Given the description of an element on the screen output the (x, y) to click on. 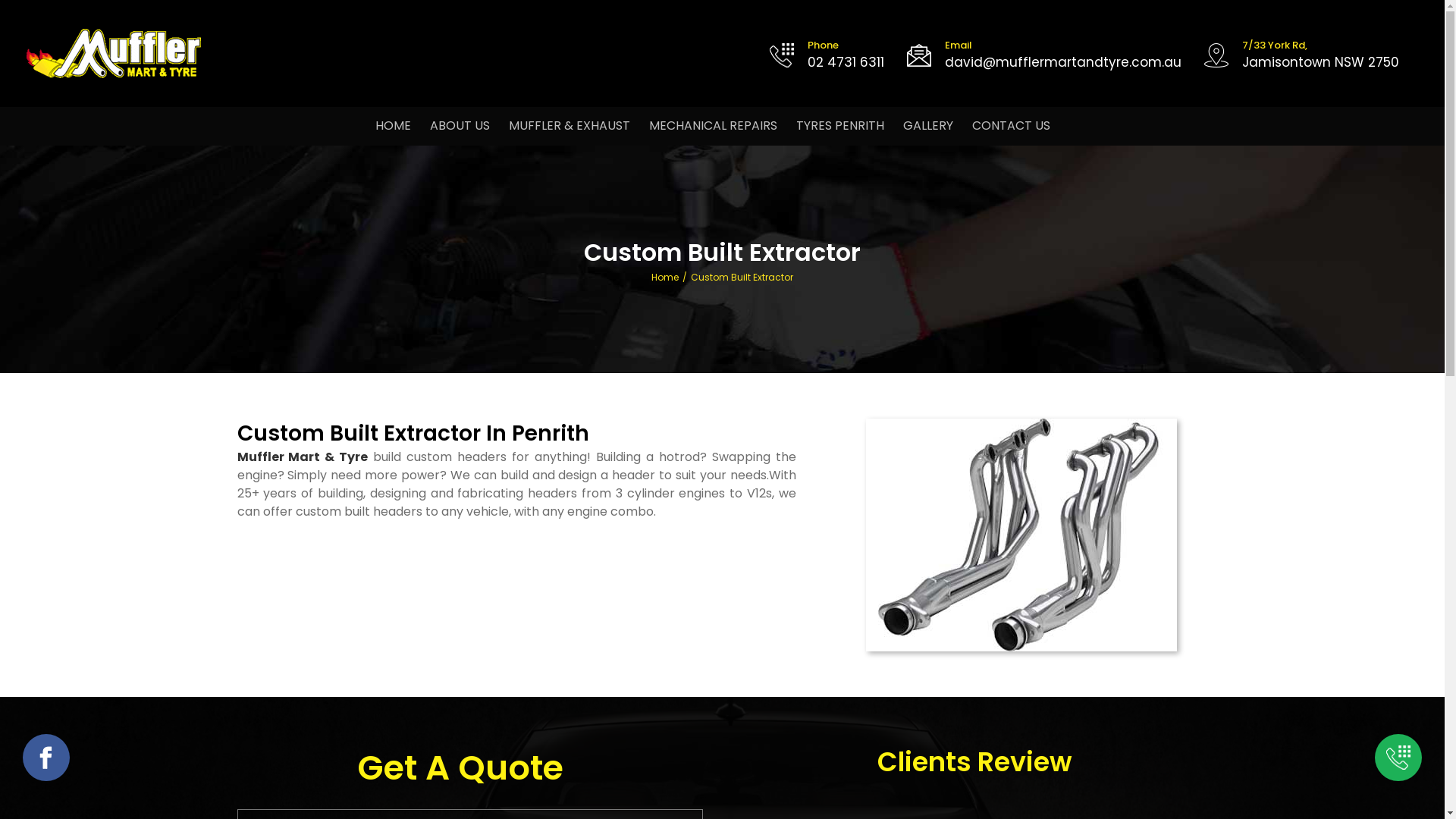
Muffler Mart & Tyre Element type: text (301, 456)
extractor Element type: hover (1021, 534)
david@mufflermartandtyre.com.au Element type: text (1062, 61)
MECHANICAL REPAIRS Element type: text (713, 125)
TYRES PENRITH Element type: text (840, 125)
CONTACT US Element type: text (1011, 125)
Jamisontown NSW 2750 Element type: text (1320, 61)
HOME Element type: text (393, 125)
ABOUT US Element type: text (459, 125)
02 4731 6311 Element type: text (845, 61)
Home Element type: text (664, 276)
GALLERY Element type: text (928, 125)
MUFFLER & EXHAUST Element type: text (569, 125)
